Given the description of an element on the screen output the (x, y) to click on. 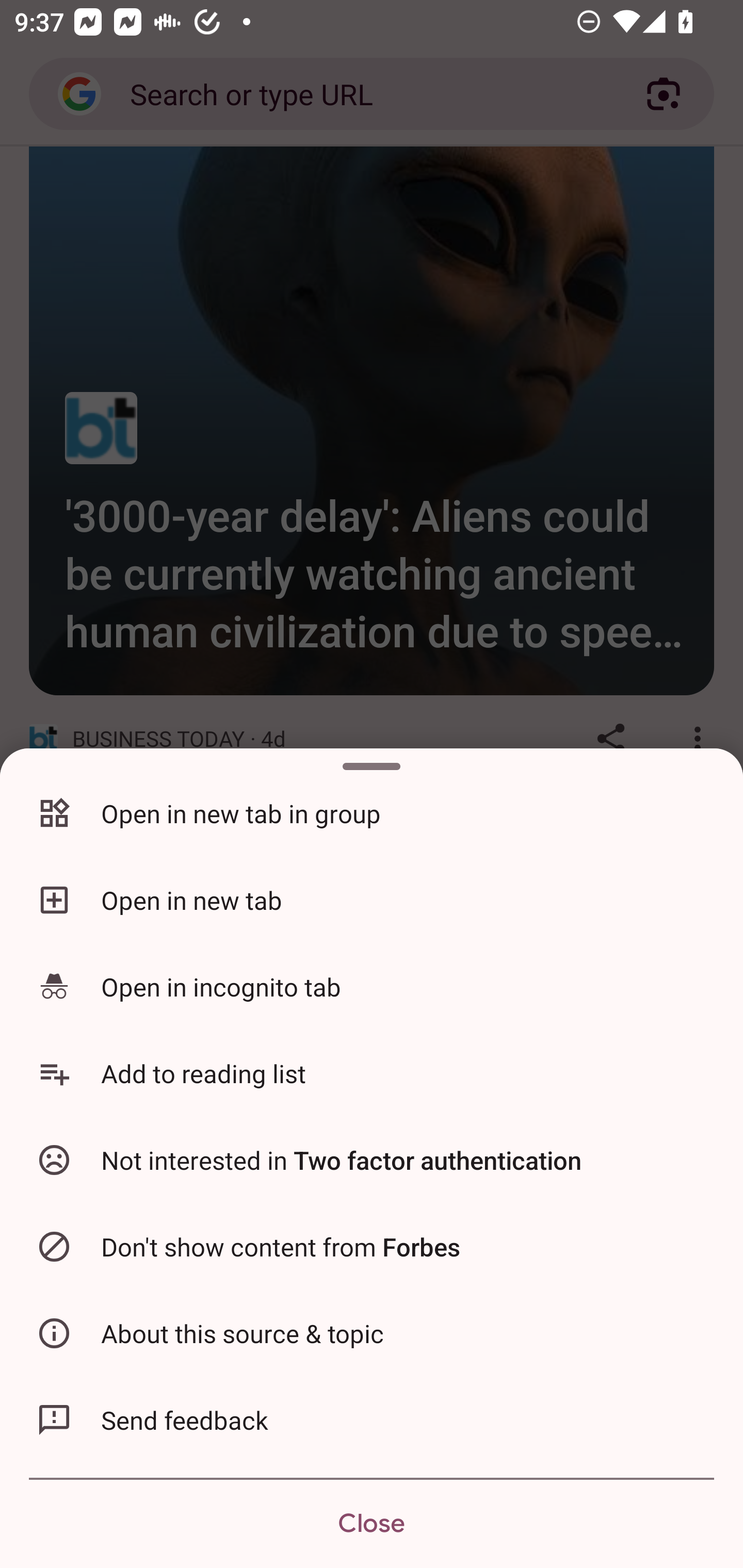
Close (371, 1524)
